Given the description of an element on the screen output the (x, y) to click on. 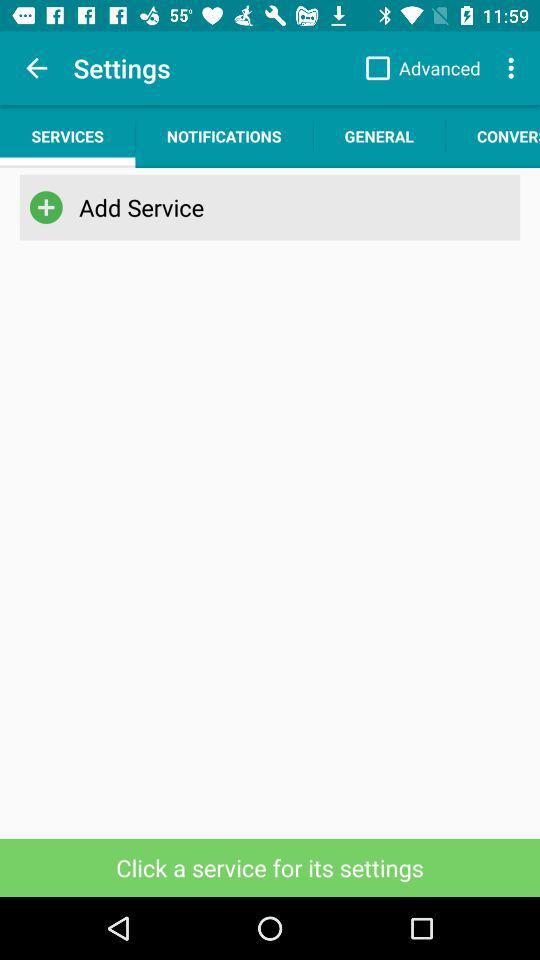
open item to the left of settings app (36, 68)
